Given the description of an element on the screen output the (x, y) to click on. 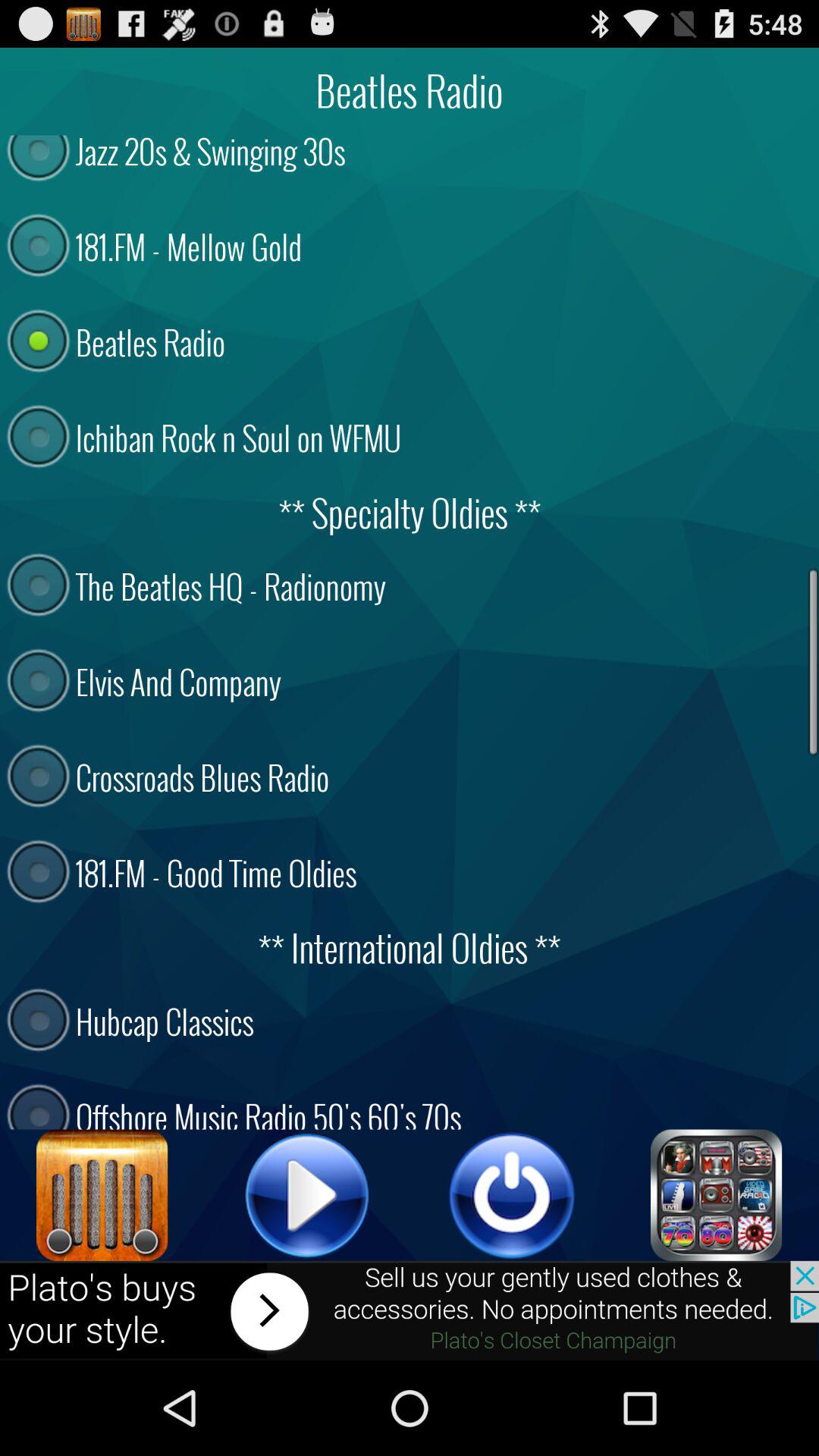
switch to play (306, 1194)
